Given the description of an element on the screen output the (x, y) to click on. 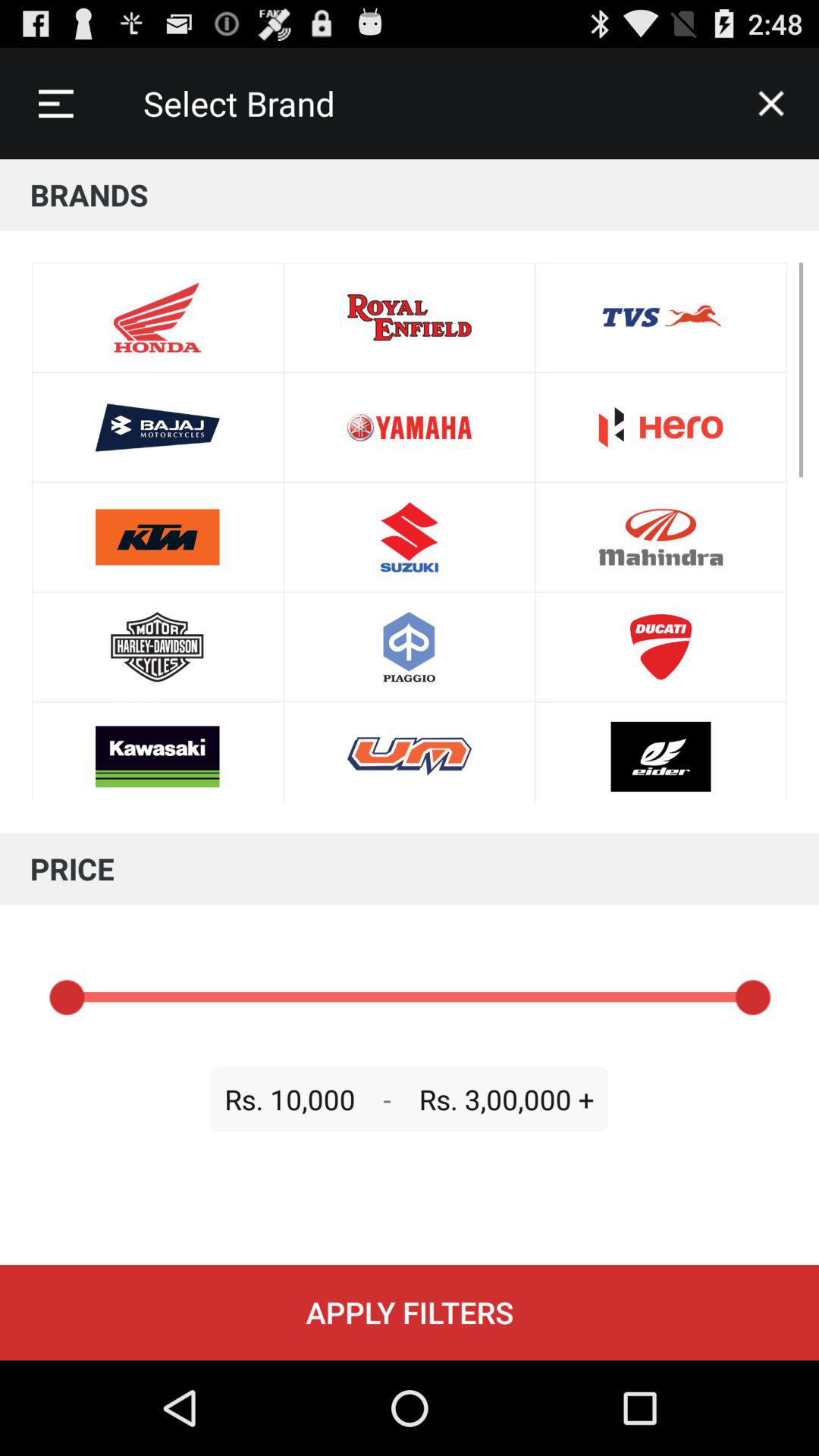
open apply filters item (409, 1312)
